Given the description of an element on the screen output the (x, y) to click on. 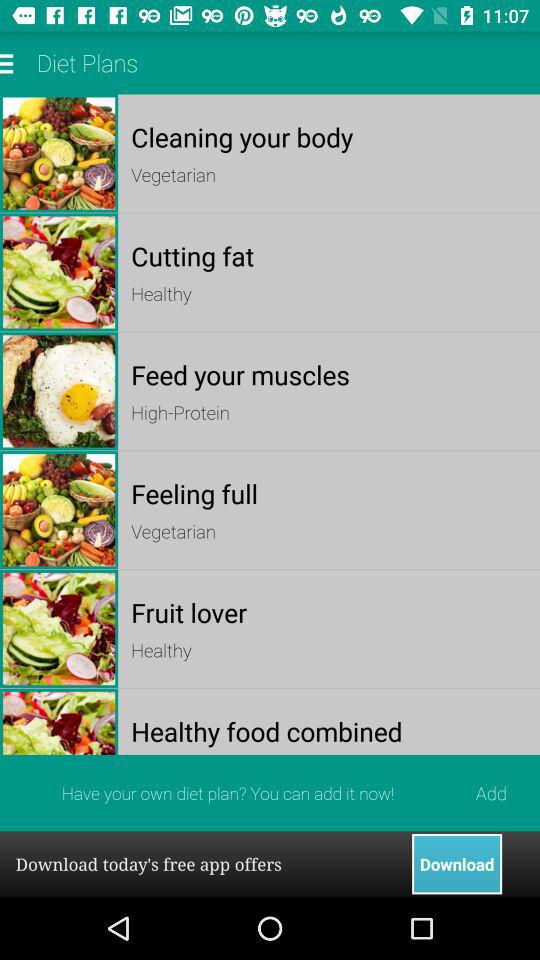
turn on item below the healthy item (328, 730)
